Given the description of an element on the screen output the (x, y) to click on. 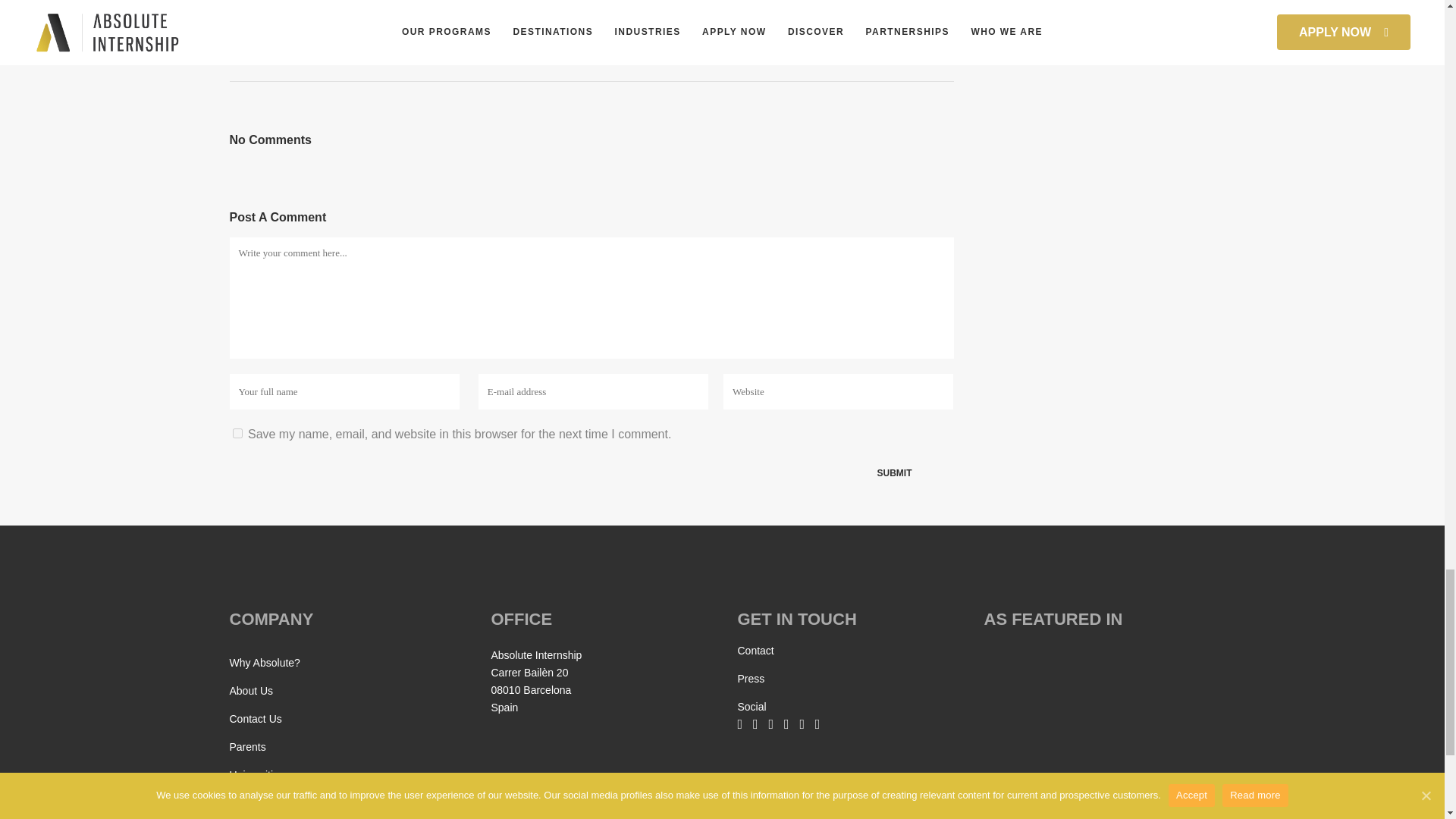
yes (236, 433)
Submit (894, 473)
